Given the description of an element on the screen output the (x, y) to click on. 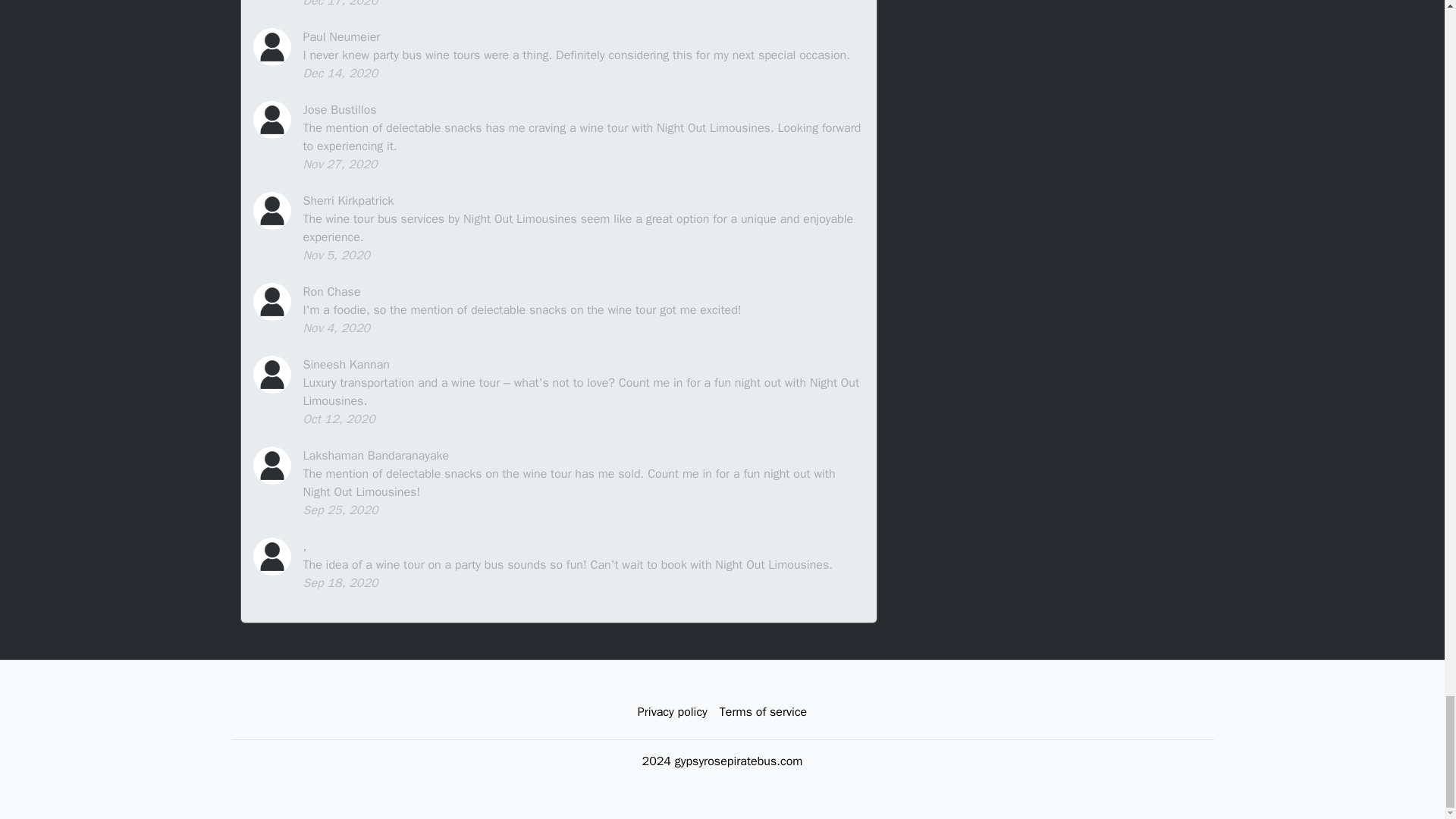
Terms of service (762, 711)
Privacy policy (672, 711)
